Given the description of an element on the screen output the (x, y) to click on. 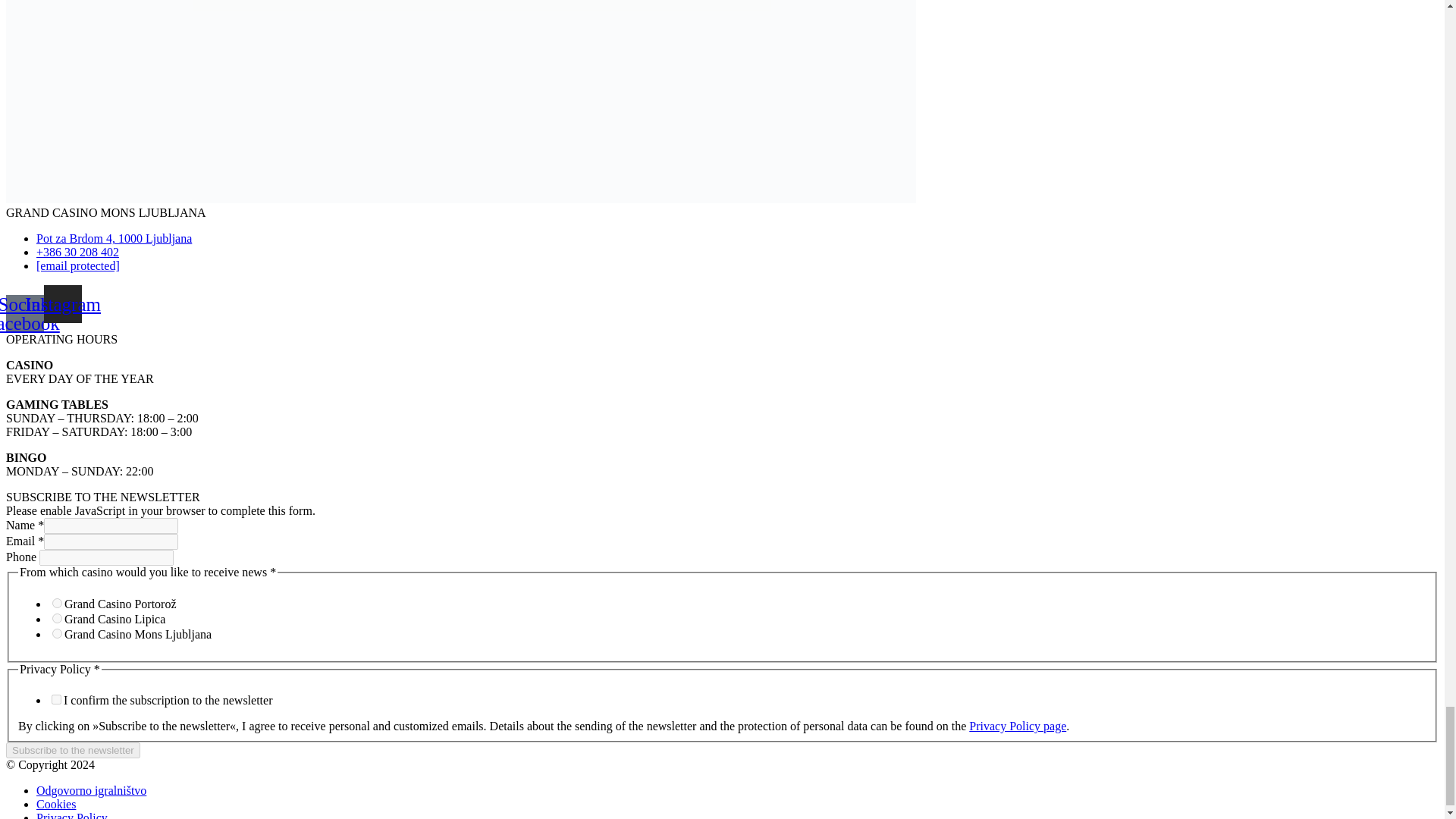
I confirm the subscription to the newsletter (55, 699)
Grand Casino Lipica (57, 617)
Grand Casino Mons Ljubljana (57, 633)
